Given the description of an element on the screen output the (x, y) to click on. 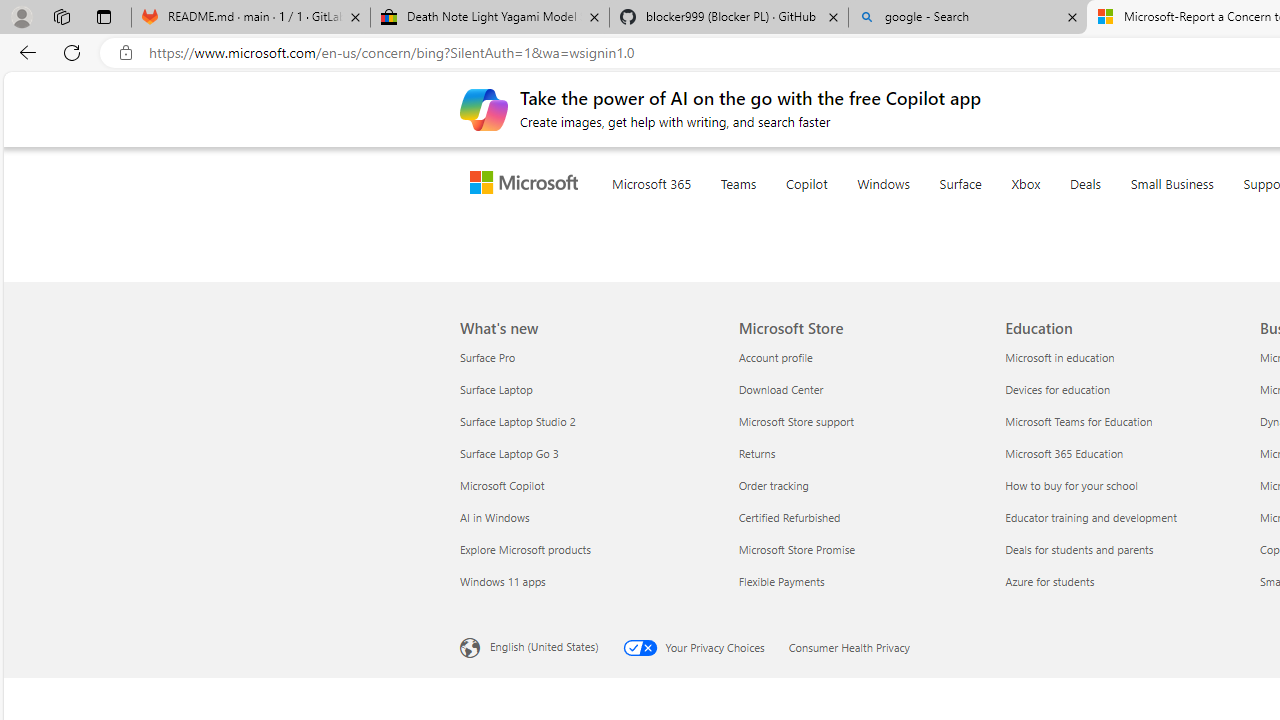
Copilot (845, 207)
Surface (1000, 208)
Create images, get help with writing, and search faster (483, 108)
Teams (778, 208)
Teams (778, 207)
Windows (923, 207)
Surface (1000, 207)
